Given the description of an element on the screen output the (x, y) to click on. 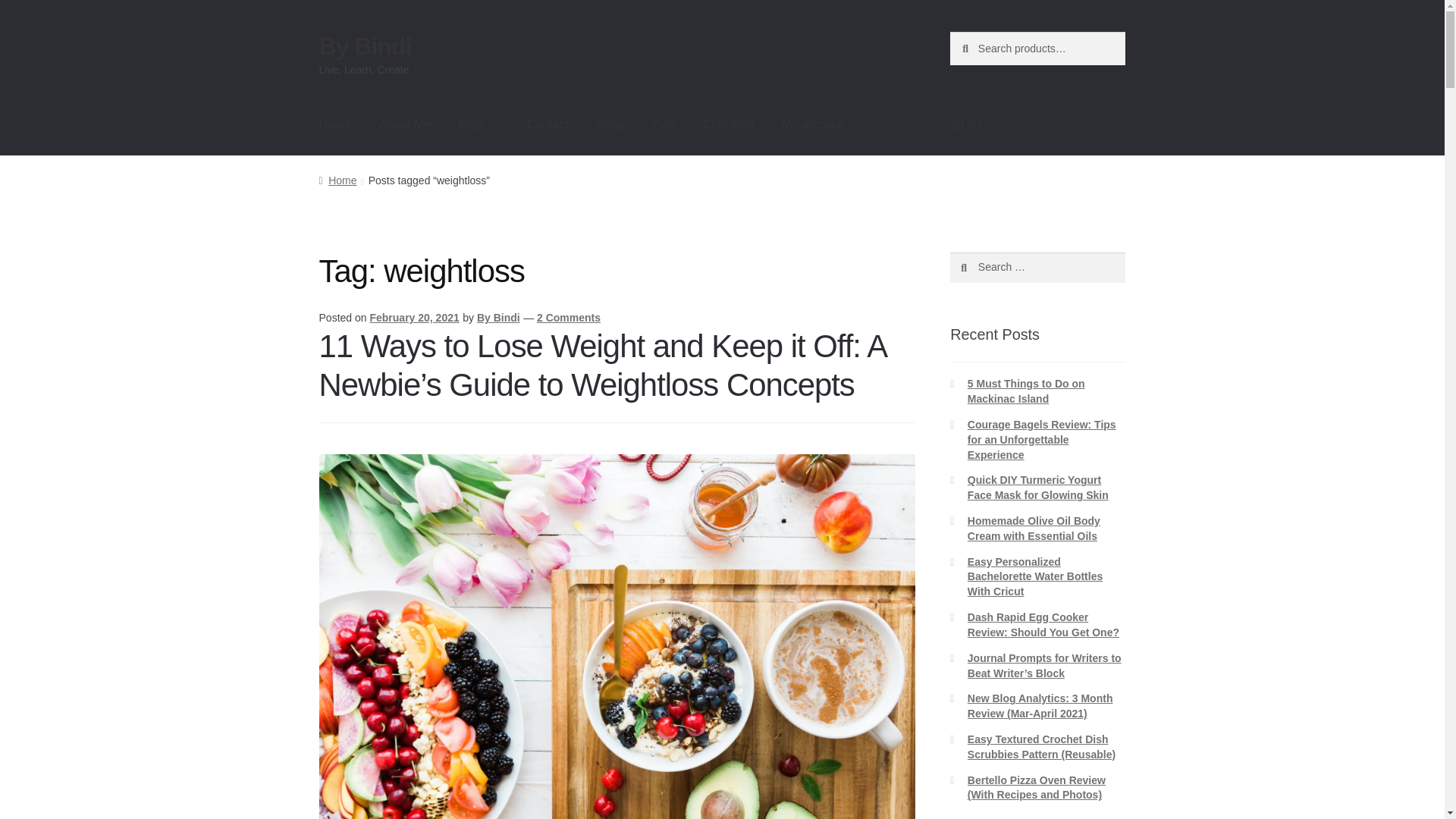
By Bindi (498, 317)
Blog (479, 124)
Contact (547, 124)
Checkout (728, 124)
My account (813, 124)
View your shopping cart (1037, 124)
2 Comments (568, 317)
Home (337, 180)
February 20, 2021 (413, 317)
